Given the description of an element on the screen output the (x, y) to click on. 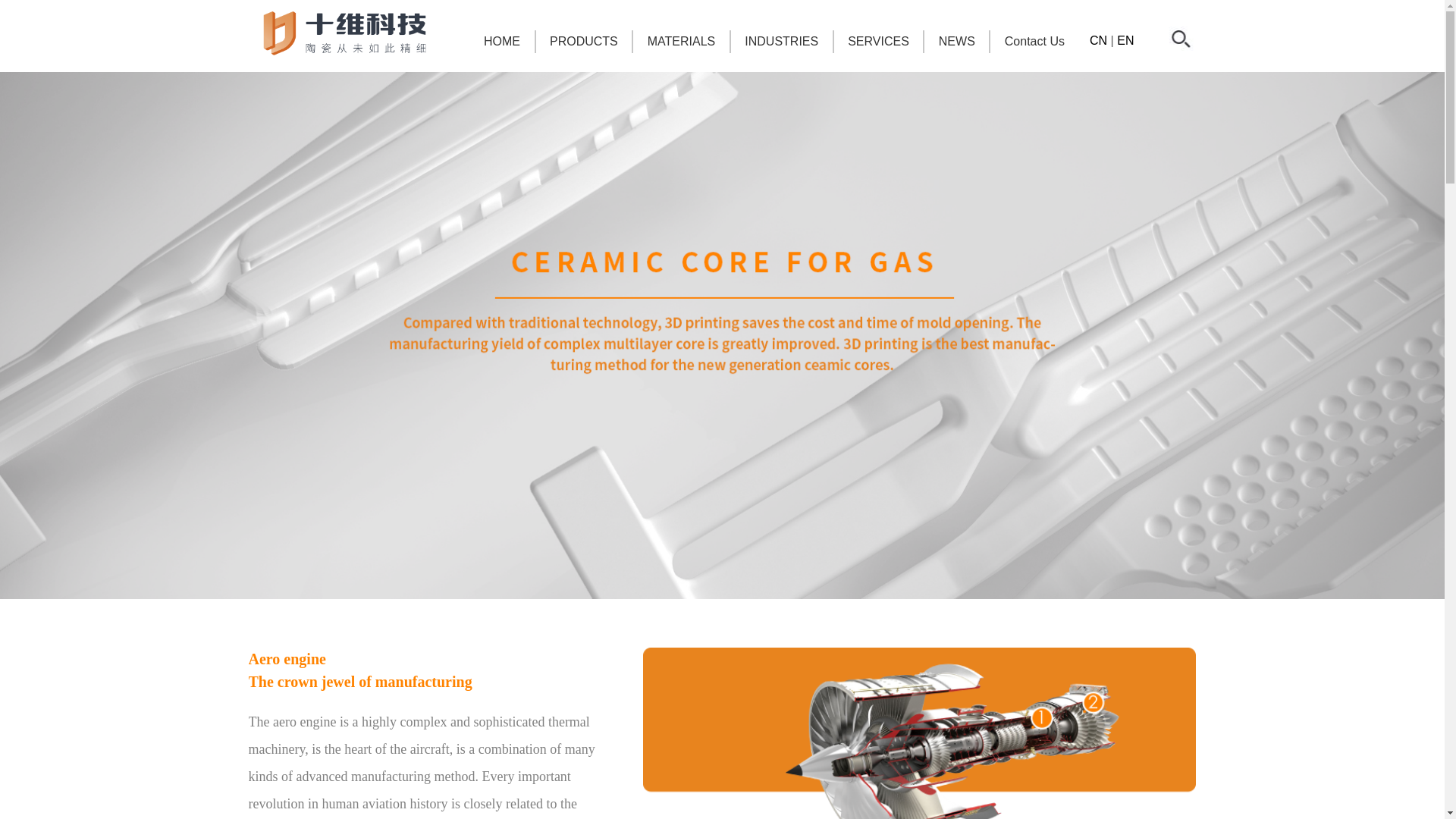
NEWS Element type: text (956, 41)
Contact Us Element type: text (1034, 41)
EN Element type: text (1125, 40)
MATERIALS Element type: text (681, 41)
INDUSTRIES Element type: text (781, 41)
Beijing TenDimensions Technology Co., Ltd. Element type: hover (344, 33)
HOME Element type: text (501, 41)
CN Element type: text (1098, 40)
PRODUCTS Element type: text (583, 41)
Beijing TenDimensions Technology Co., Ltd. Element type: hover (722, 335)
SERVICES Element type: text (878, 41)
Beijing TenDimensions Technology Co., Ltd. Element type: hover (1181, 38)
